Given the description of an element on the screen output the (x, y) to click on. 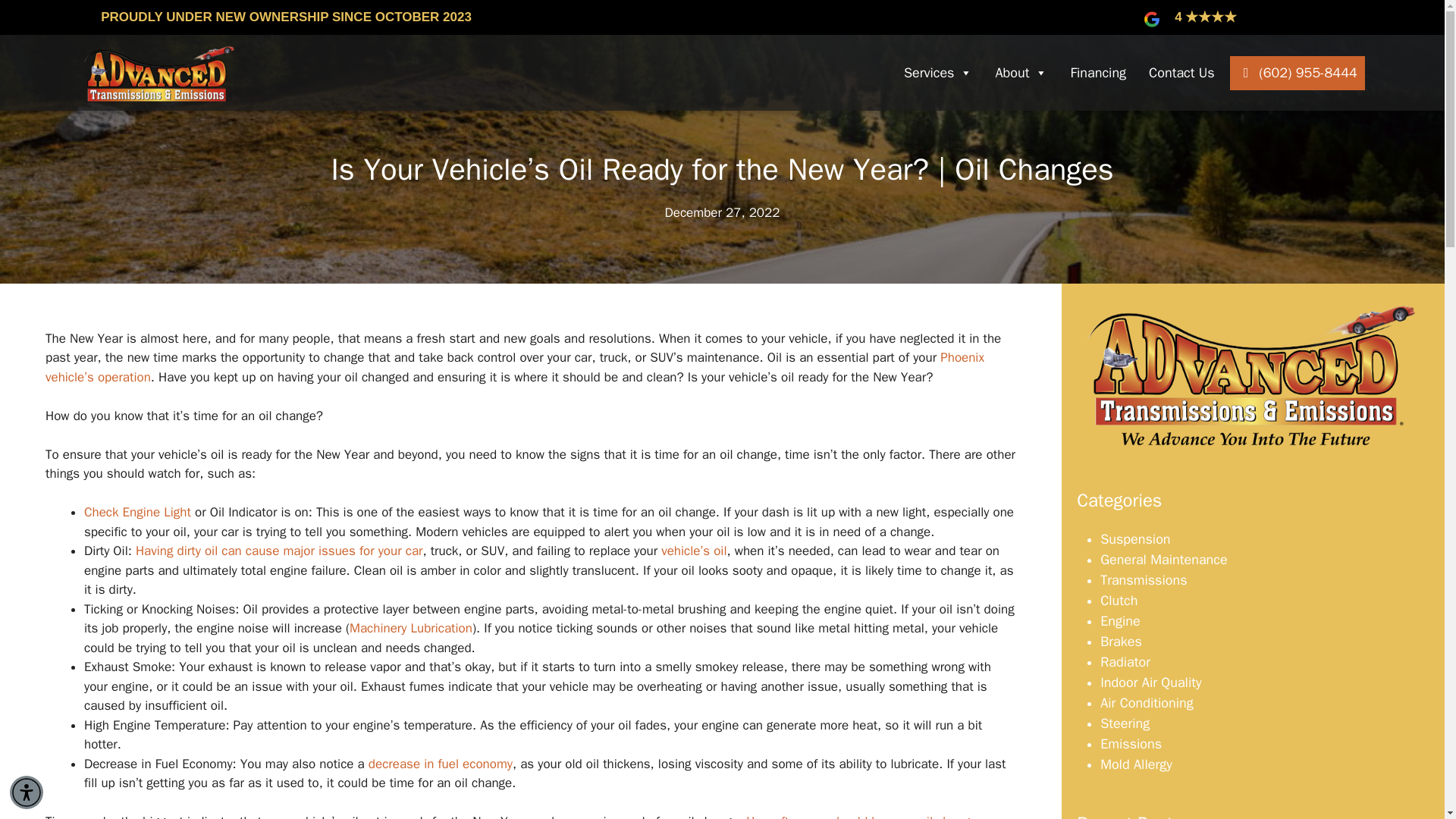
Services (937, 72)
Having dirty oil can cause major issues for your car (279, 550)
33 topics (1120, 620)
How often you should have an oil change (860, 816)
1 topics (1120, 641)
10 topics (1118, 600)
Machinery Lubrication (410, 627)
73 topics (1163, 559)
Contact Us (1182, 72)
2 topics (1135, 538)
About Advanced Transmissions (1253, 377)
About (1020, 72)
Financing (1098, 72)
28 topics (1143, 579)
decrease in fuel economy (440, 763)
